Given the description of an element on the screen output the (x, y) to click on. 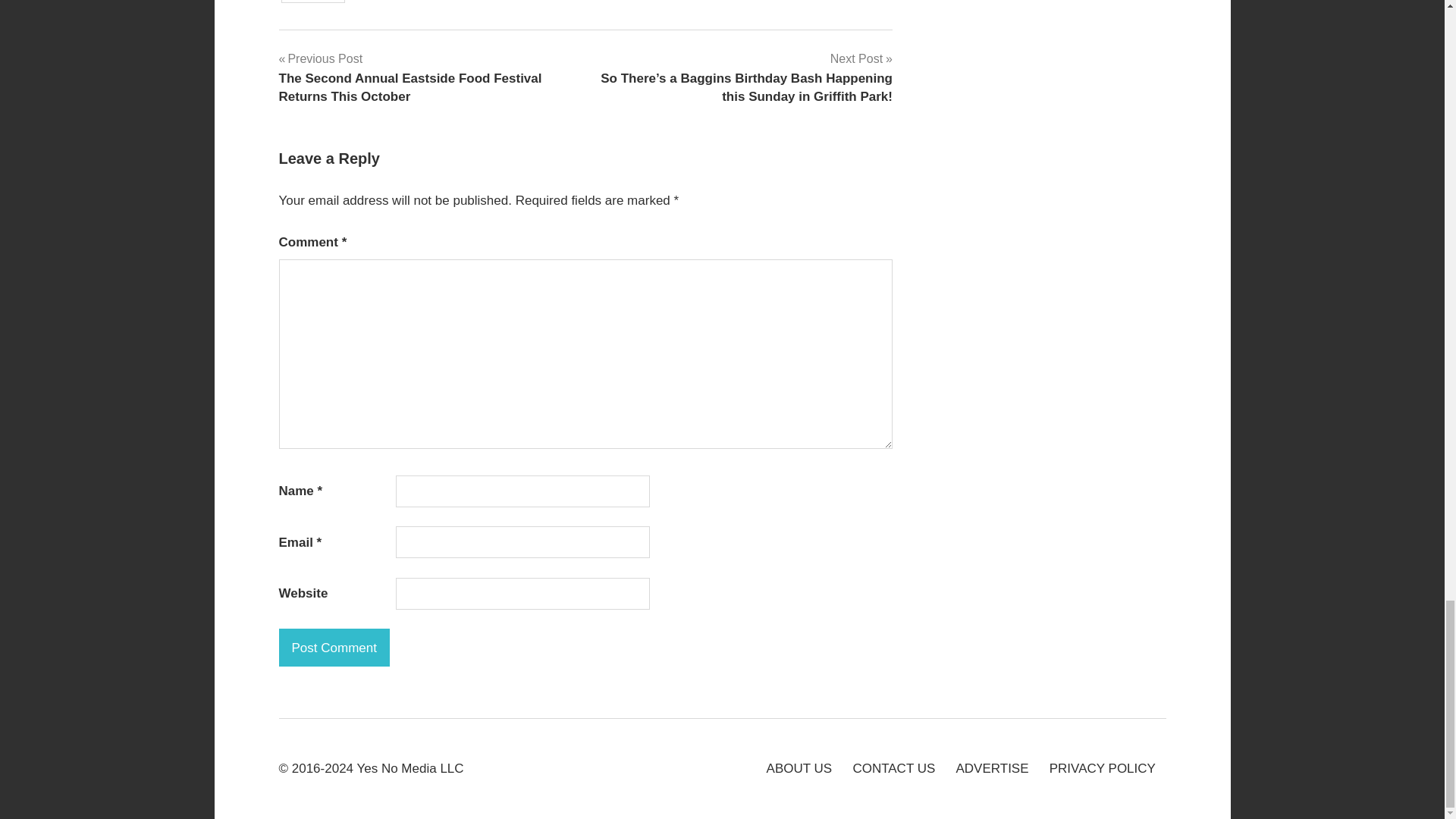
Post Comment (334, 647)
disneyland (313, 2)
Post Comment (334, 647)
